Given the description of an element on the screen output the (x, y) to click on. 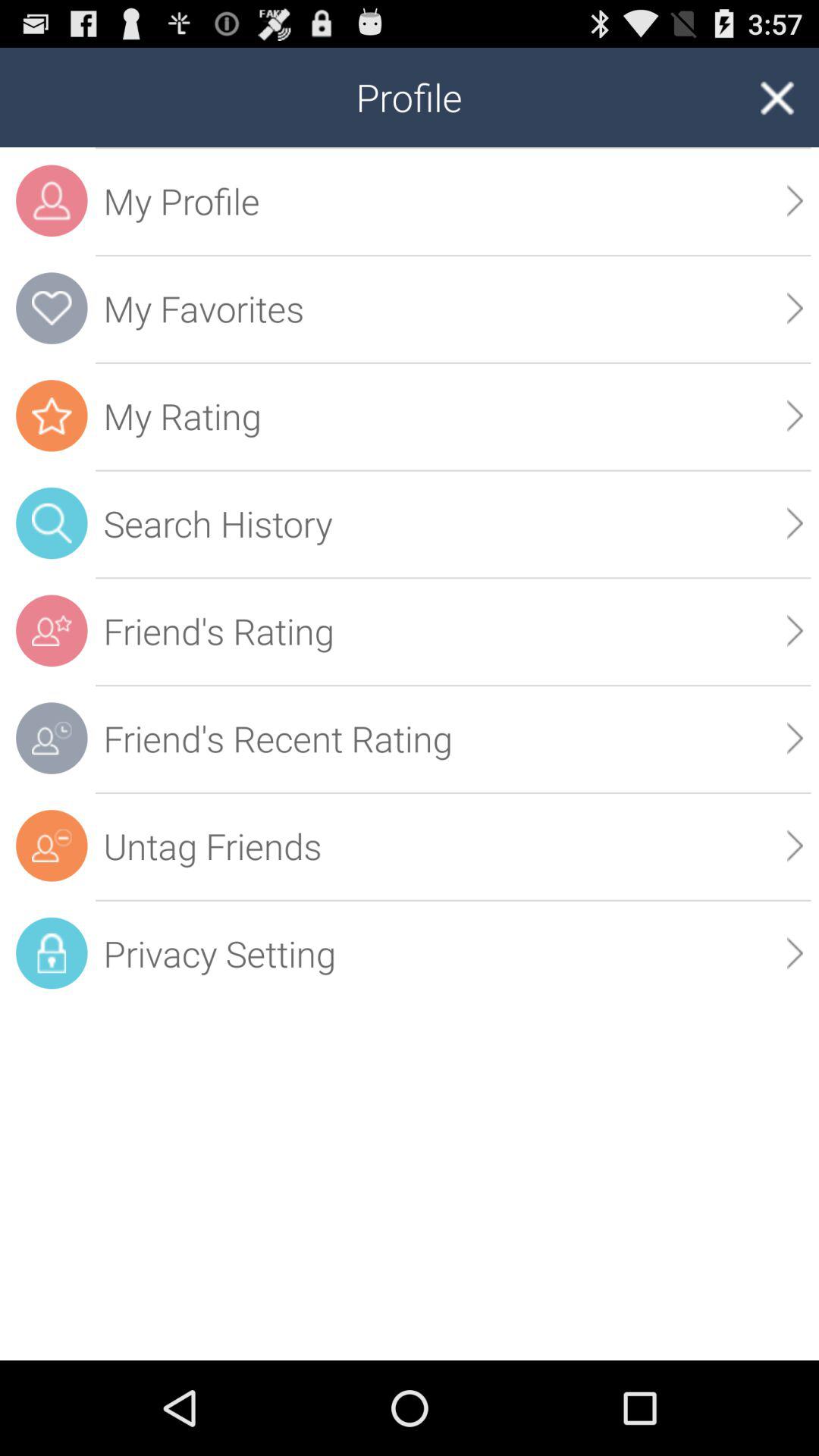
select the item above the my profile app (776, 97)
